Given the description of an element on the screen output the (x, y) to click on. 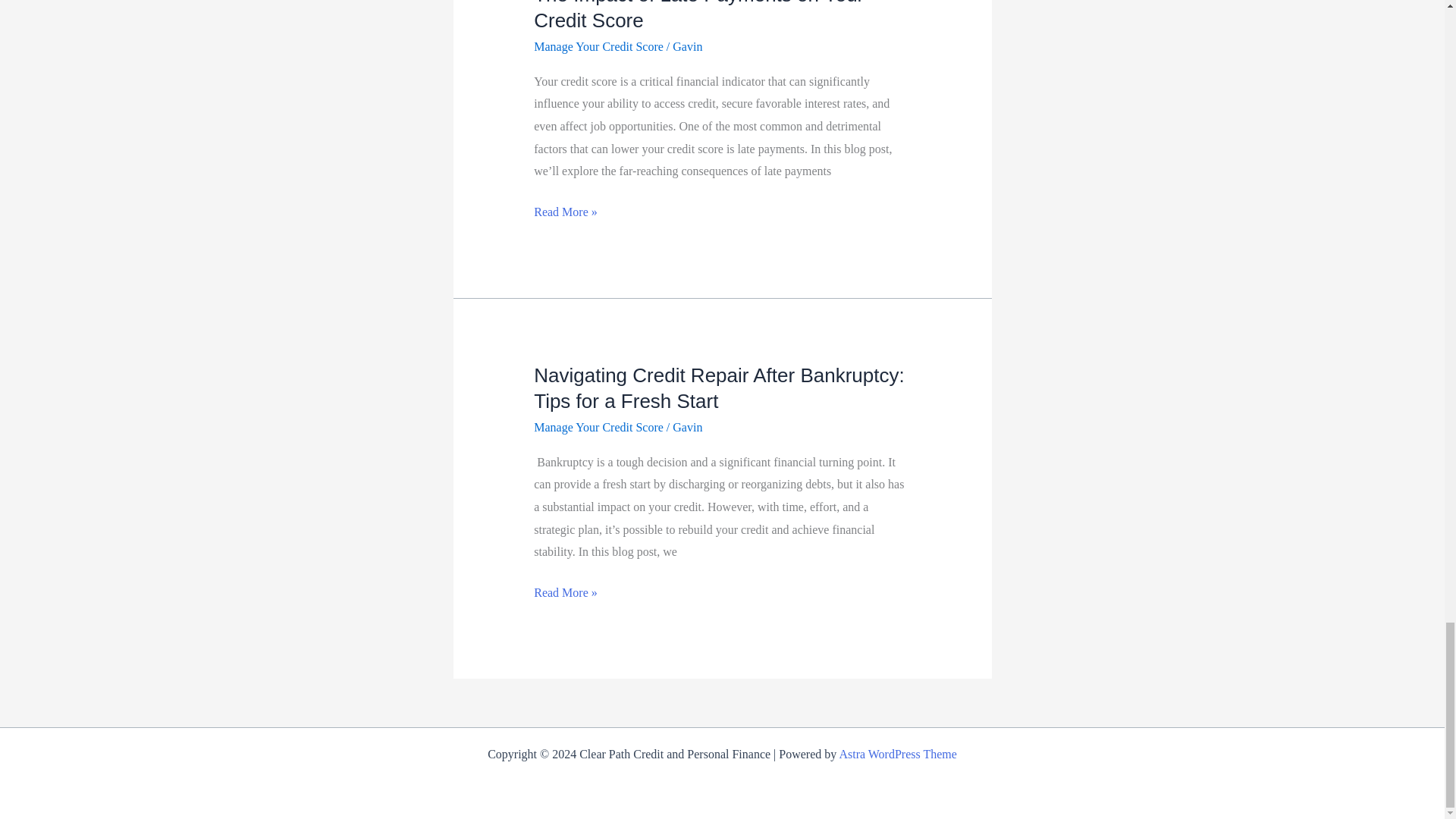
Gavin (686, 46)
Astra WordPress Theme (897, 753)
Manage Your Credit Score (598, 46)
Gavin (686, 427)
Manage Your Credit Score (598, 427)
View all posts by Gavin (686, 46)
The Impact of Late Payments on Your Credit Score (698, 15)
View all posts by Gavin (686, 427)
